Given the description of an element on the screen output the (x, y) to click on. 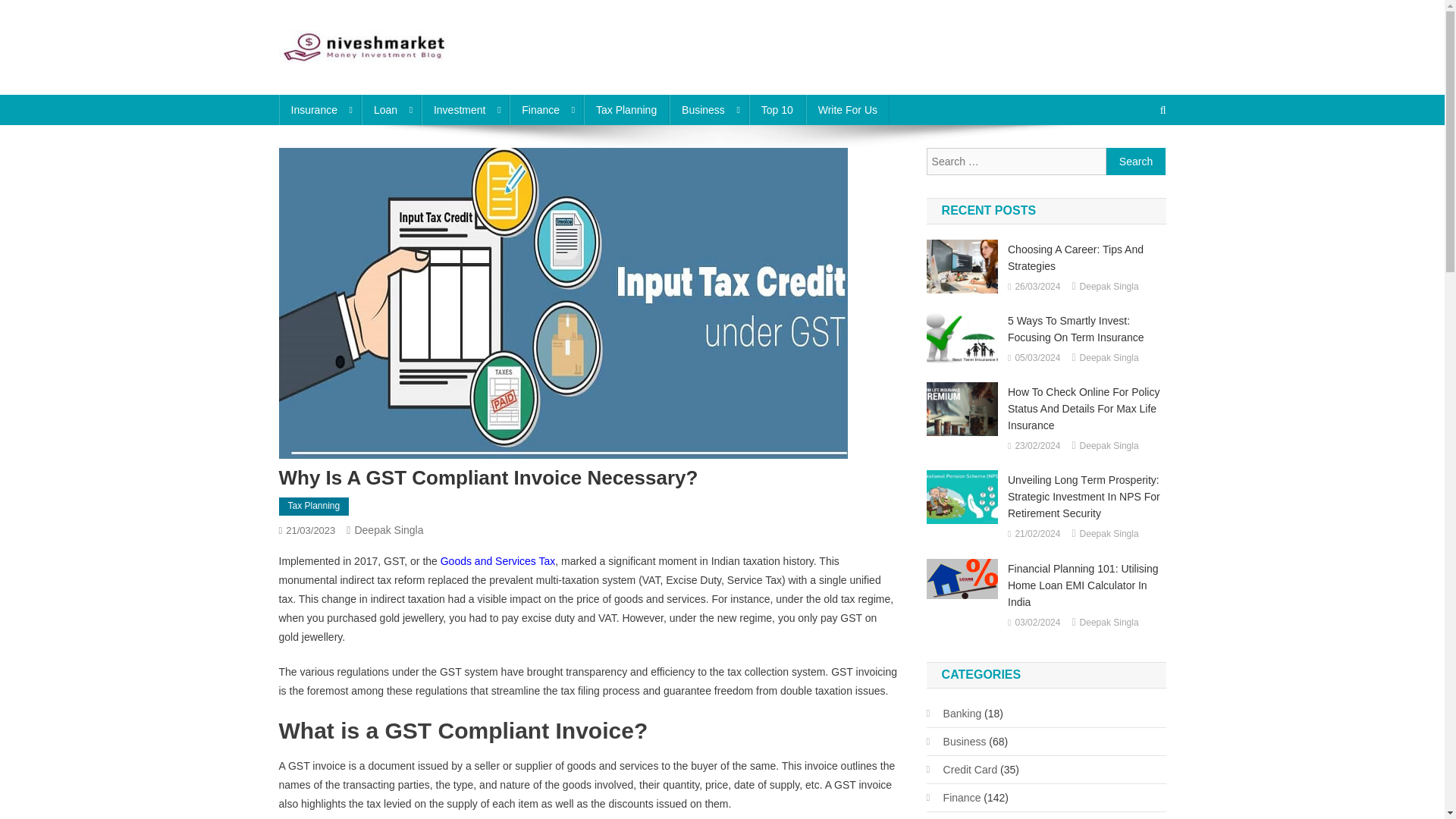
Deepak Singla (388, 530)
Loan (390, 110)
Top 10 (777, 110)
Search (1136, 161)
Business (708, 110)
Search (1136, 161)
Tax Planning (314, 506)
Insurance (320, 110)
Write For Us (847, 110)
Investment (465, 110)
